Given the description of an element on the screen output the (x, y) to click on. 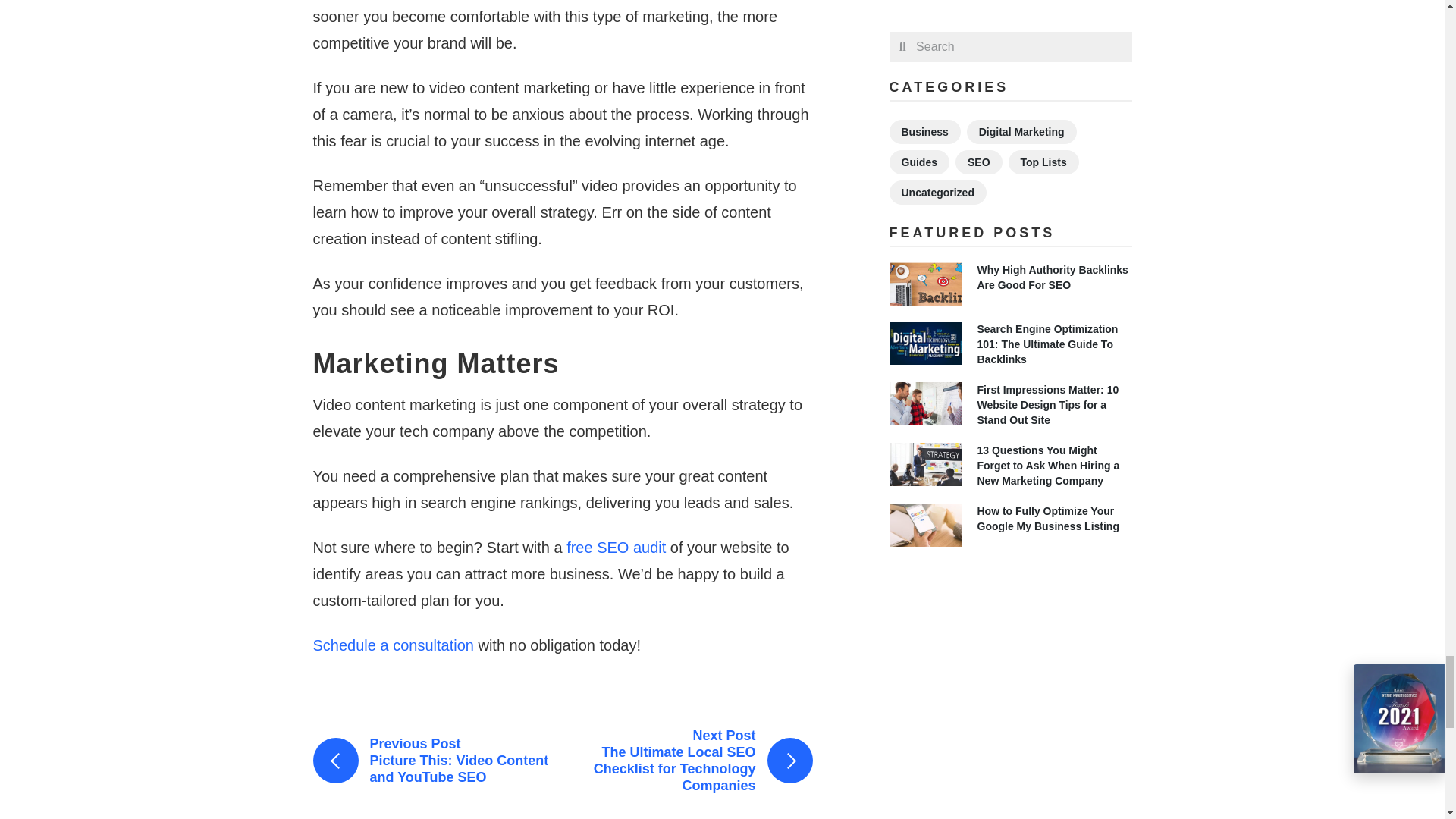
Schedule a consultation (393, 645)
free SEO audit (615, 547)
